Given the description of an element on the screen output the (x, y) to click on. 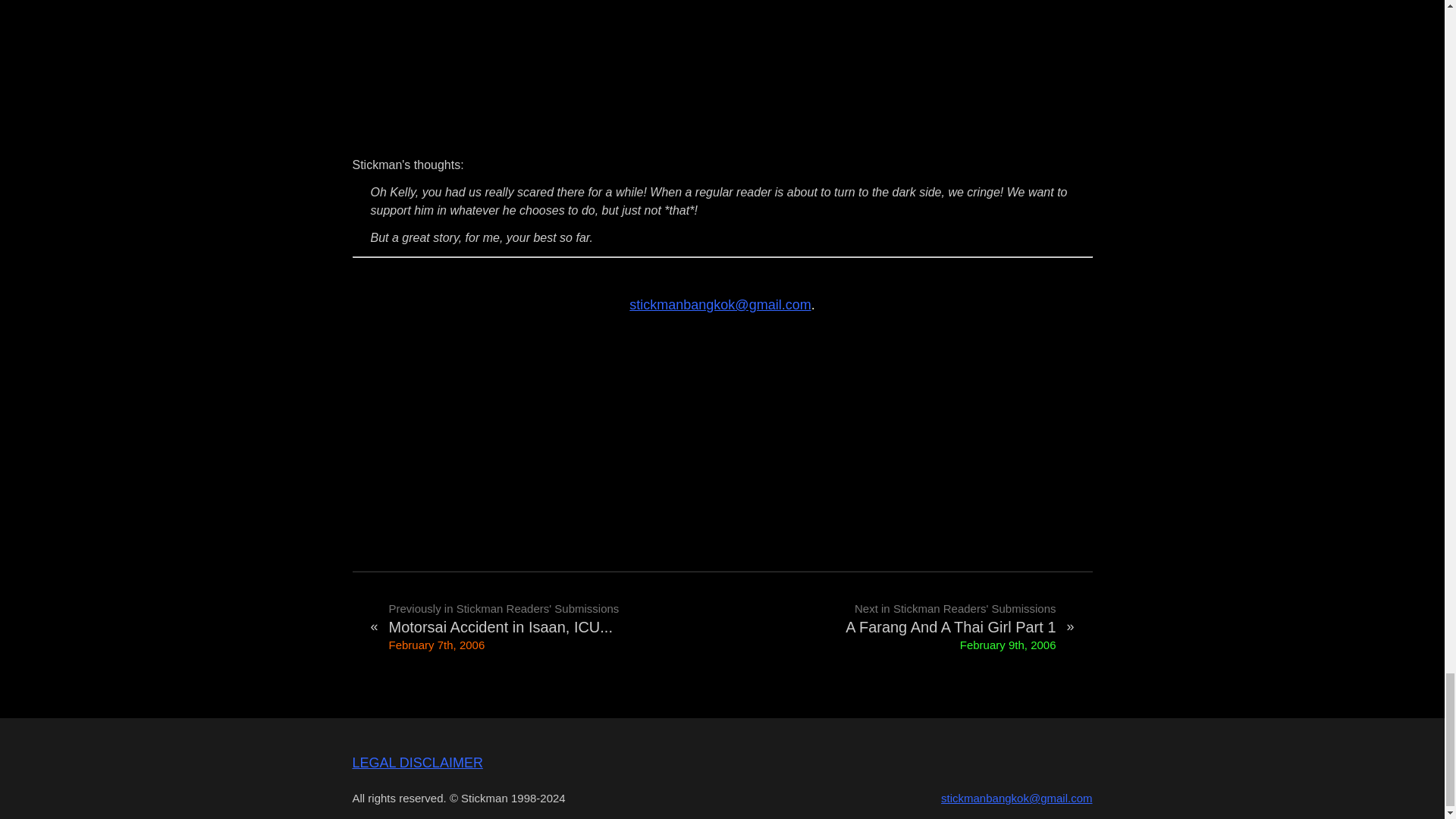
LEGAL DISCLAIMER (416, 762)
